Given the description of an element on the screen output the (x, y) to click on. 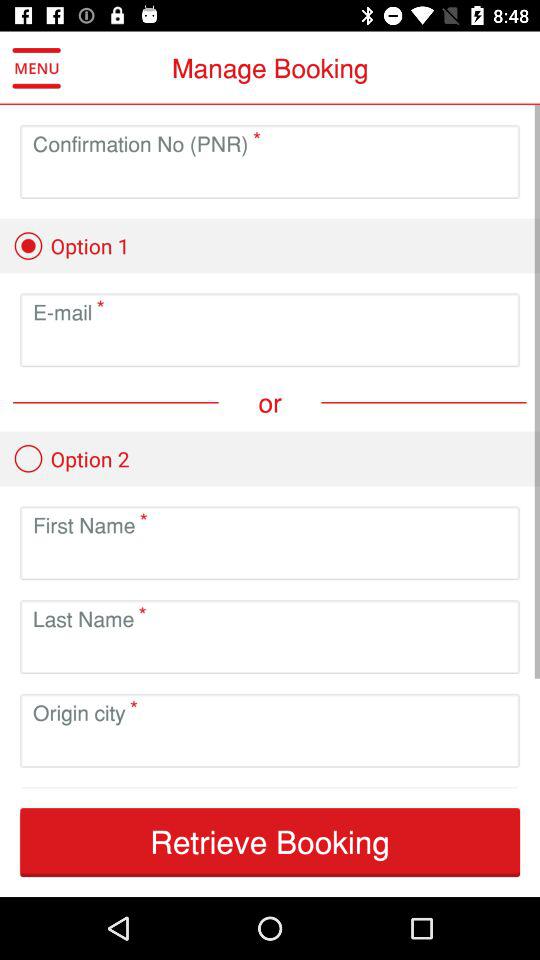
tap icon above e-mail (71, 245)
